Given the description of an element on the screen output the (x, y) to click on. 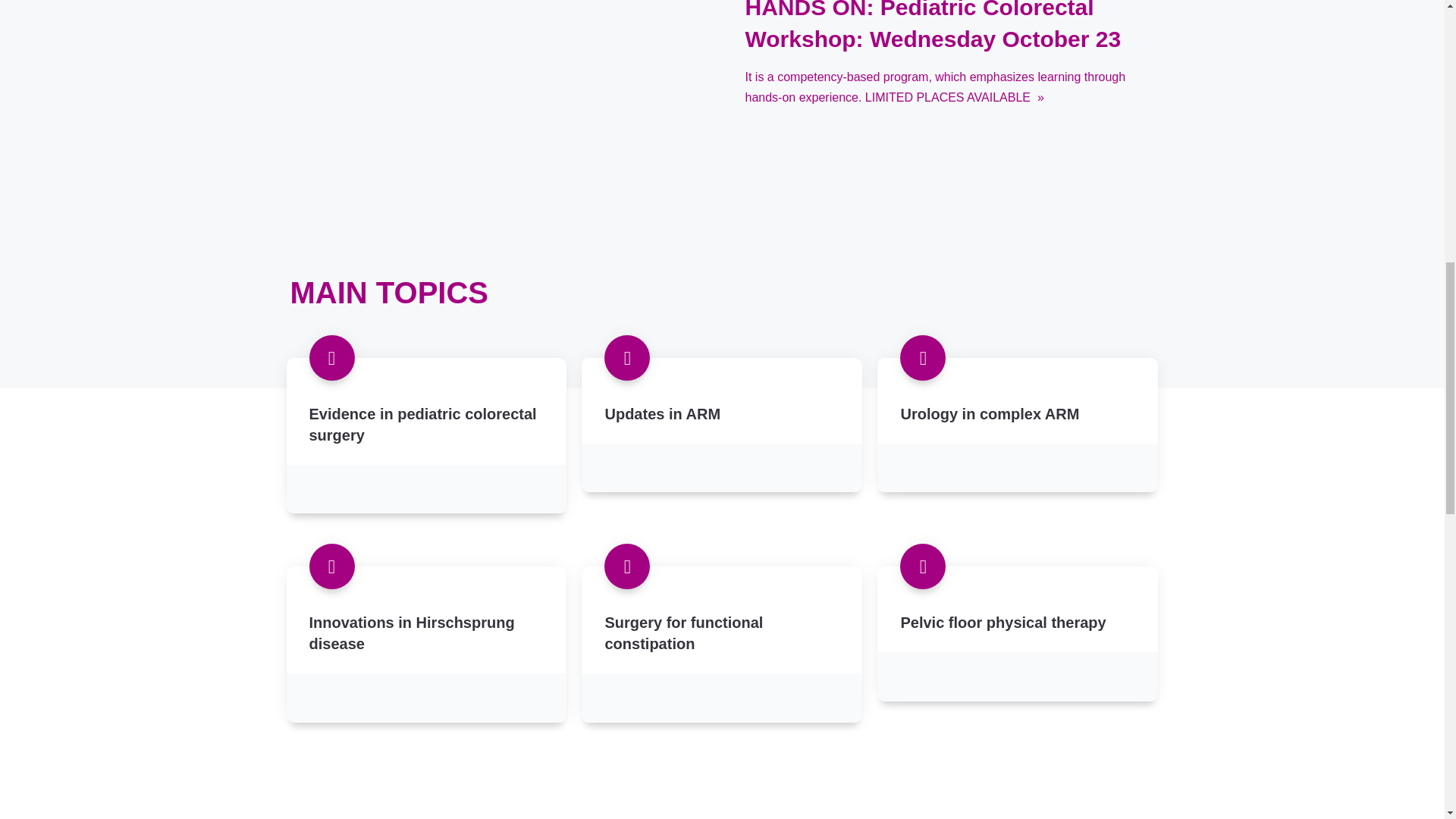
Pelvic floor physical therapy (1017, 643)
Urology in complex ARM (1017, 435)
Evidence in pediatric colorectal surgery (426, 435)
Updates in ARM (720, 435)
Surgery for functional constipation (720, 643)
Innovations in Hirschsprung disease (426, 643)
